Given the description of an element on the screen output the (x, y) to click on. 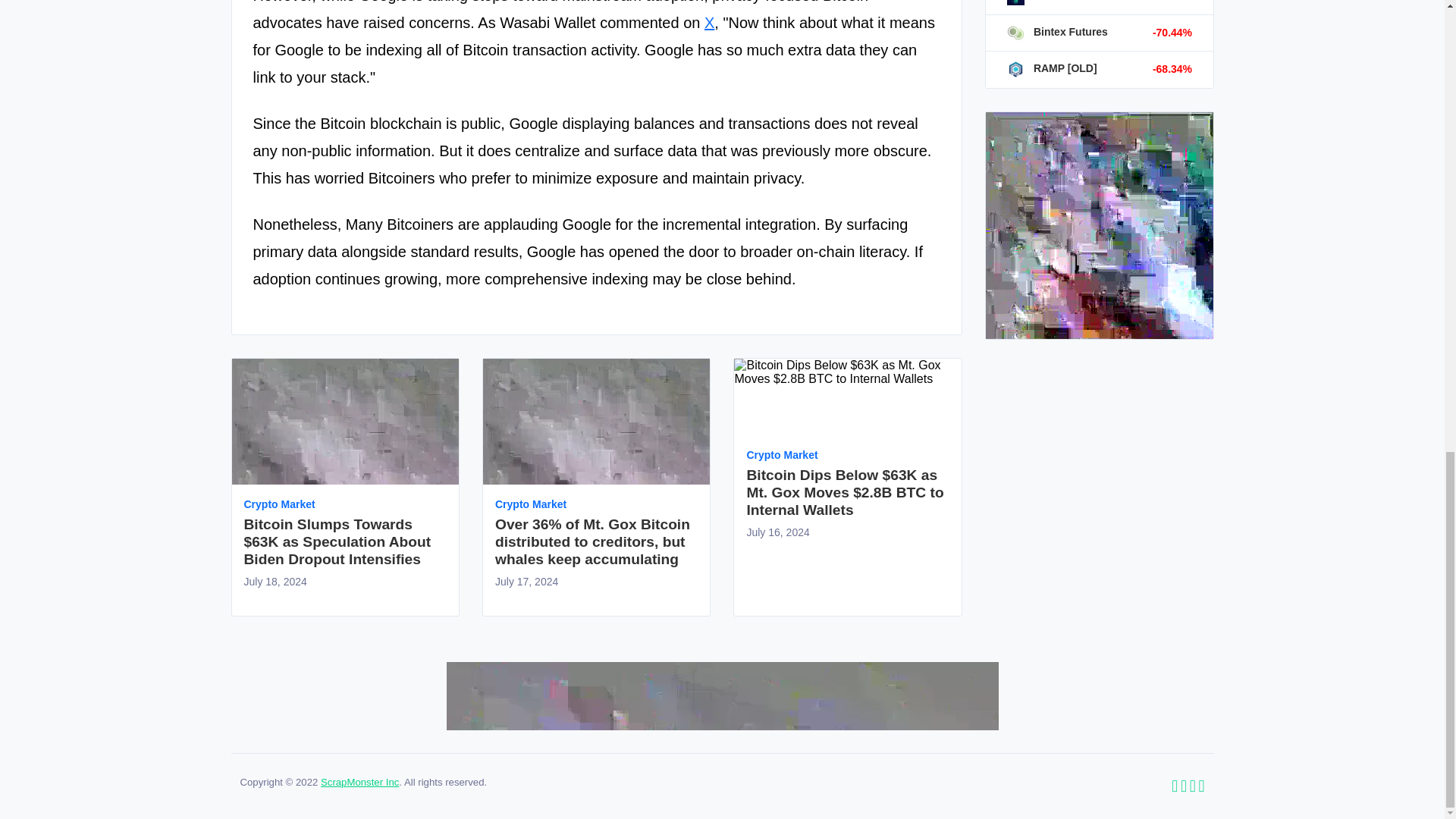
Crypto Market (530, 503)
GeroWallet (1048, 0)
Crypto Market (780, 454)
Crypto Market (279, 503)
X (709, 22)
Crypto Market (780, 454)
Crypto Market (279, 503)
Bintex Futures (1057, 31)
Crypto Market (530, 503)
